Given the description of an element on the screen output the (x, y) to click on. 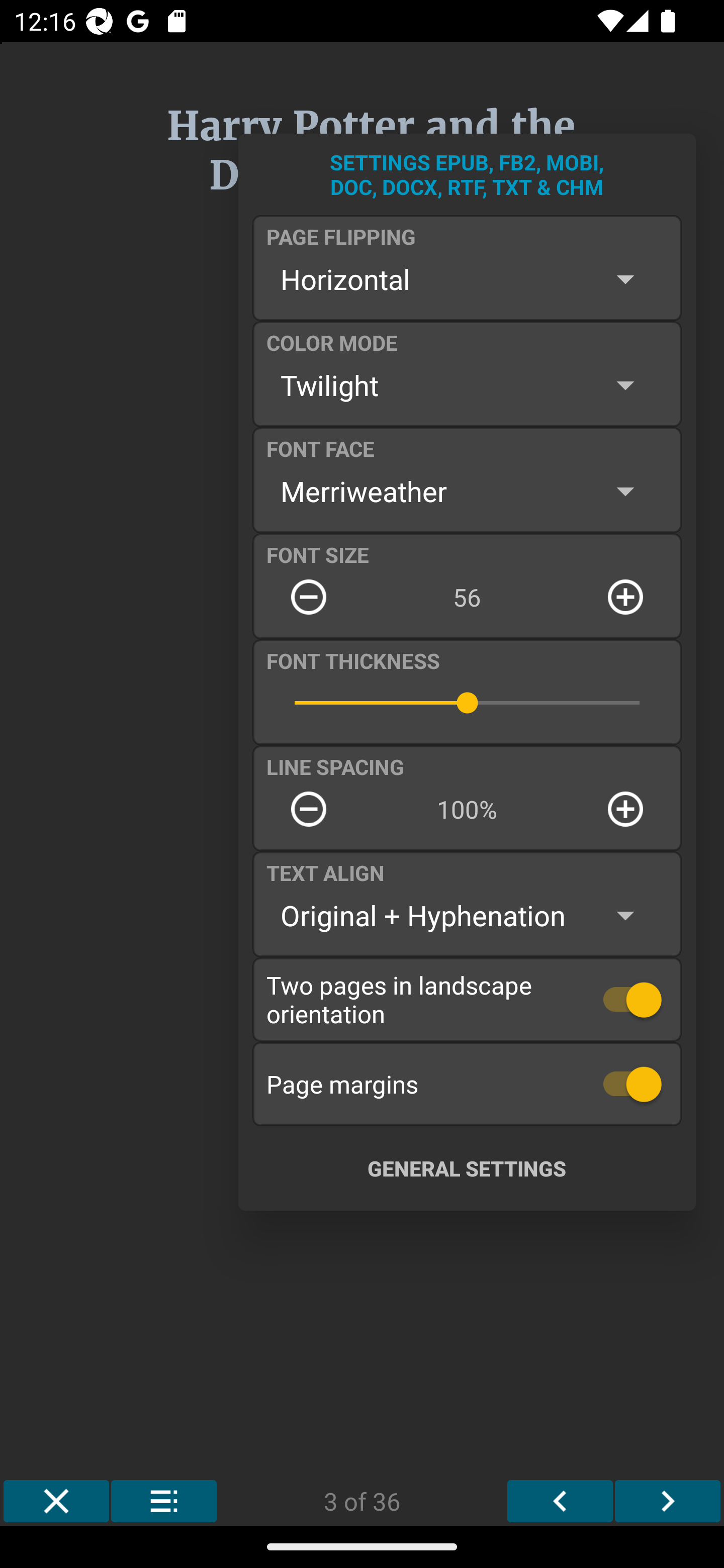
Horizontal (466, 278)
Twilight (466, 384)
Merriweather (466, 490)
Original + Hyphenation (466, 915)
Two pages in landscape orientation (467, 999)
Page margins (467, 1083)
GENERAL SETTINGS (466, 1167)
